Given the description of an element on the screen output the (x, y) to click on. 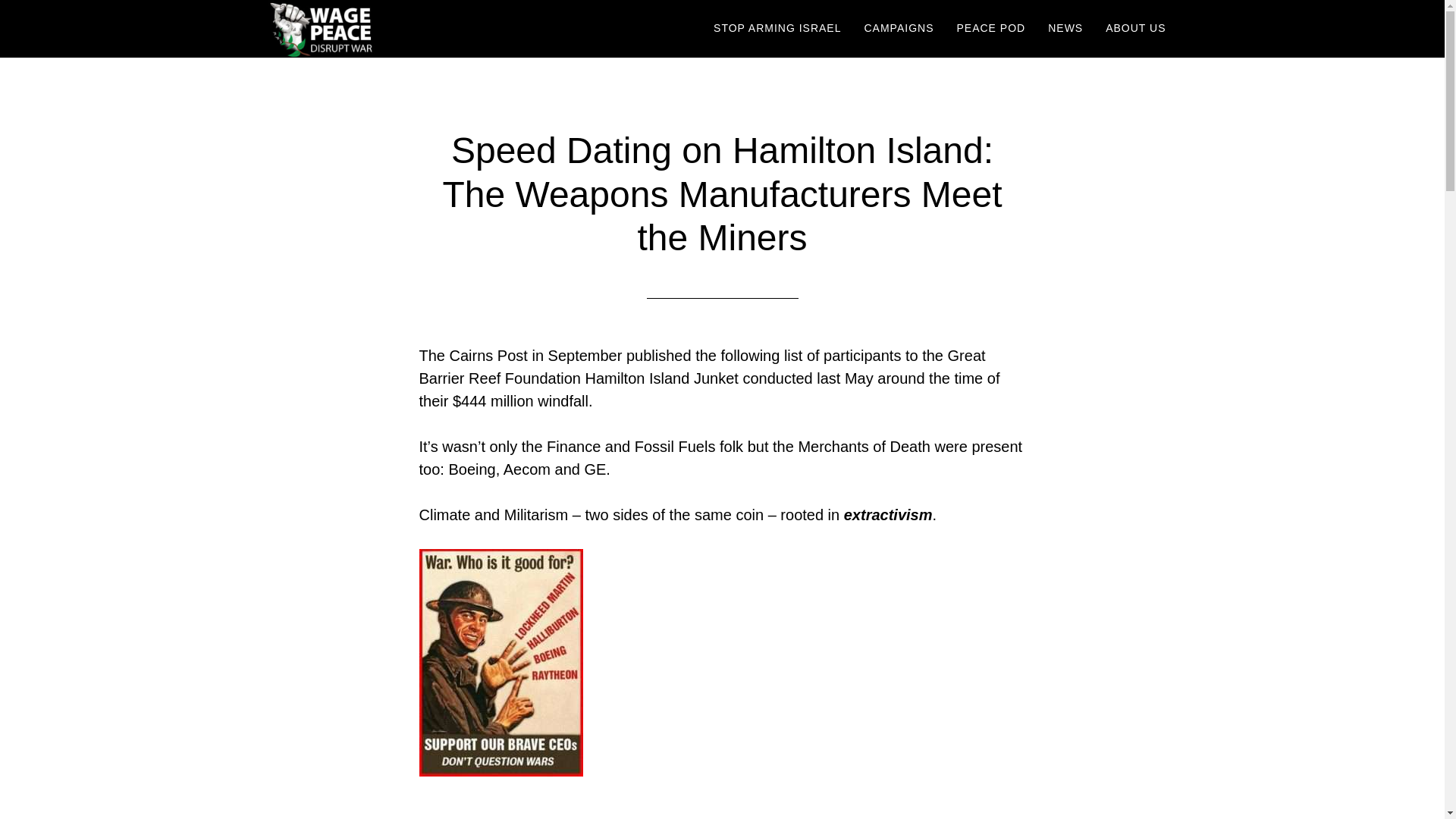
WAGE PEACE - DISRUPT WAR (403, 28)
CAMPAIGNS (897, 28)
STOP ARMING ISRAEL (776, 28)
